Given the description of an element on the screen output the (x, y) to click on. 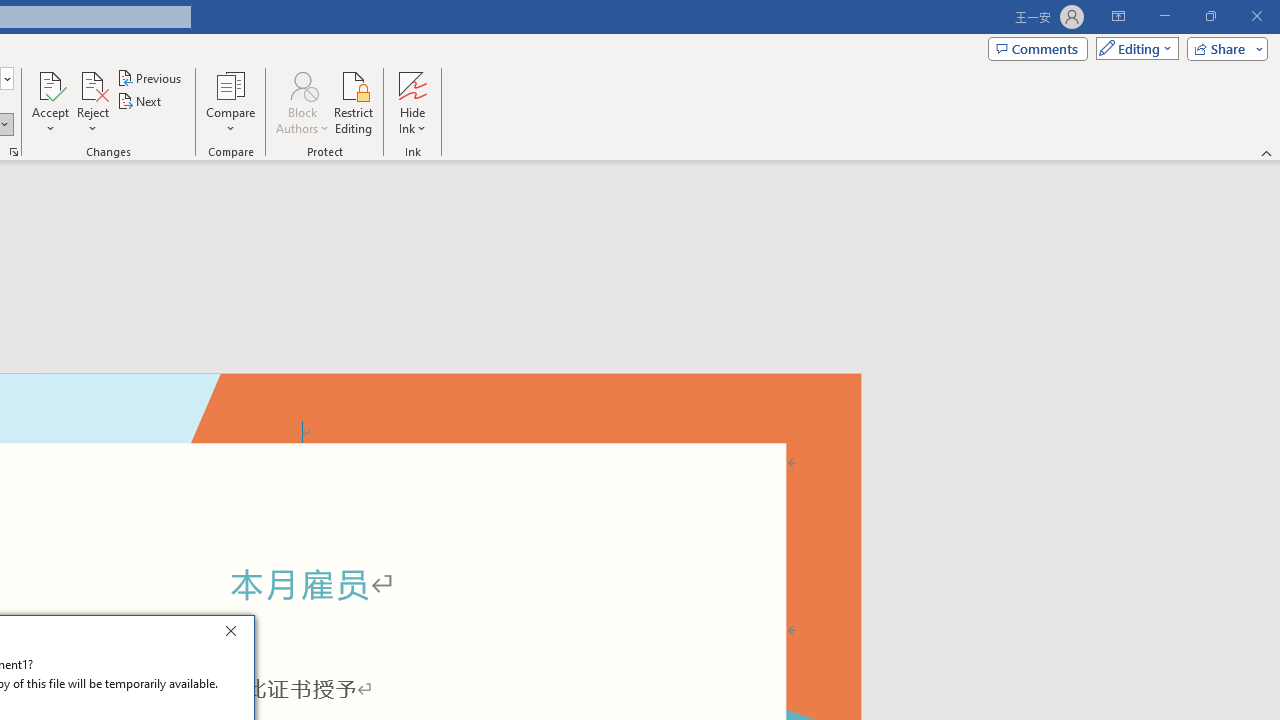
Reject (92, 102)
Change Tracking Options... (13, 151)
Restrict Editing (353, 102)
Block Authors (302, 102)
Accept (50, 102)
Reject and Move to Next (92, 84)
Block Authors (302, 84)
Previous (150, 78)
Hide Ink (412, 84)
Hide Ink (412, 102)
Compare (230, 102)
Next (140, 101)
